Given the description of an element on the screen output the (x, y) to click on. 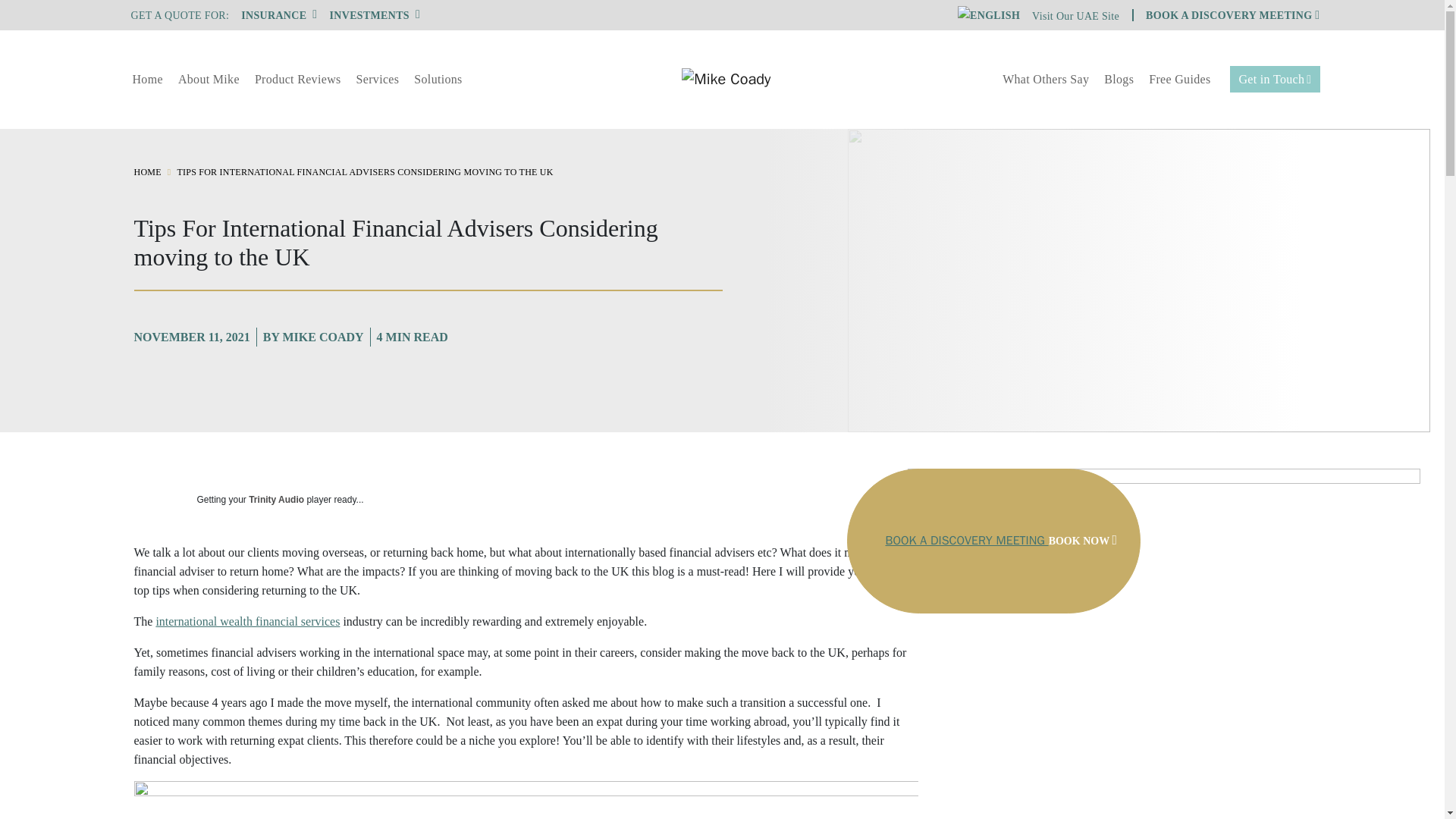
About Mike (208, 79)
INSURANCE (279, 15)
Product Reviews (298, 79)
BOOK A DISCOVERY MEETING (1232, 15)
INVESTMENTS (375, 15)
